Given the description of an element on the screen output the (x, y) to click on. 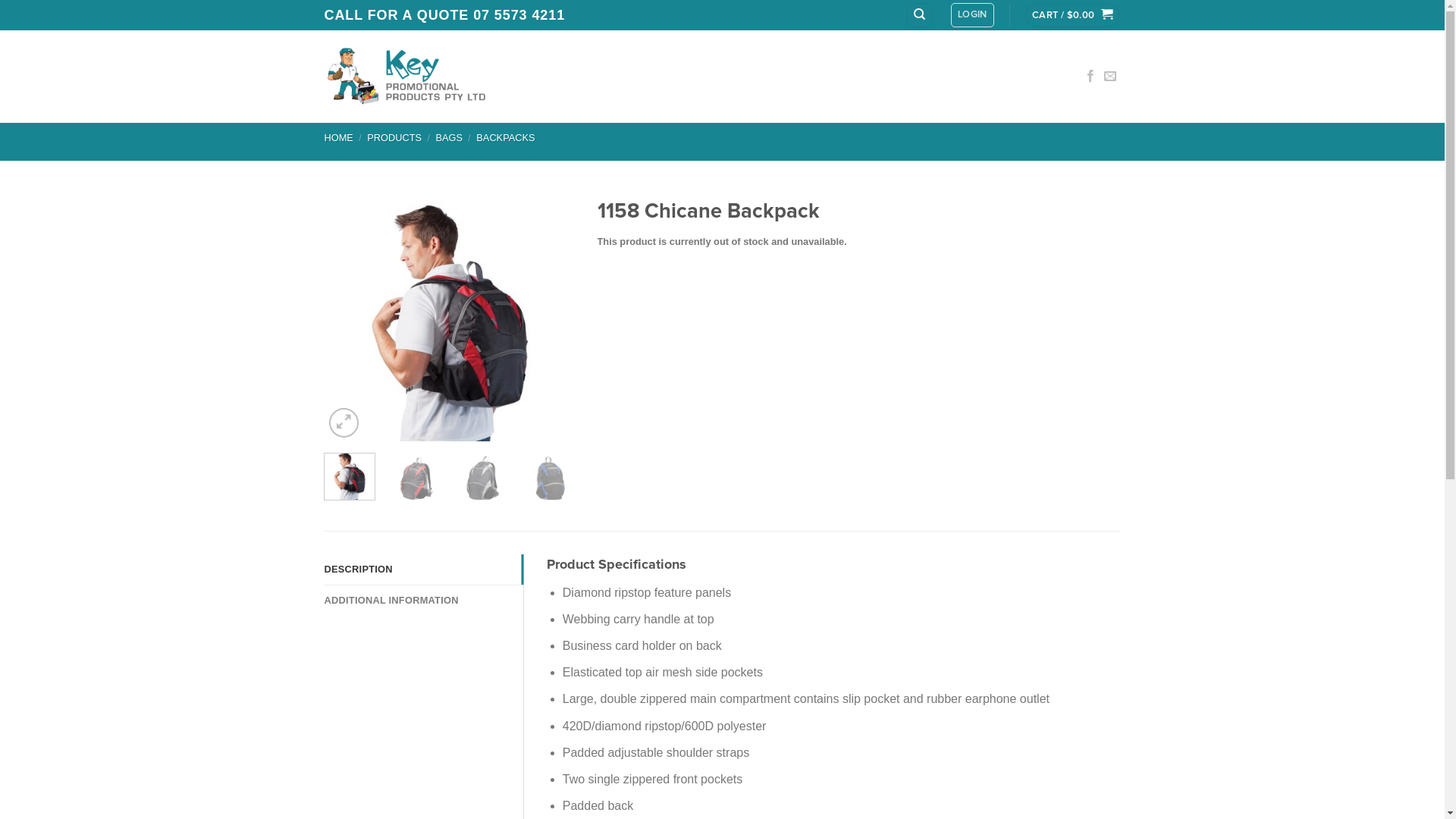
HOME Element type: text (338, 137)
ABOUT US Element type: text (980, 76)
Follow on Facebook Element type: hover (1090, 76)
LOGIN Element type: text (971, 15)
PRODUCTS Element type: text (394, 137)
DESCRIPTION Element type: text (424, 569)
Send us an email Element type: hover (1110, 76)
BACKPACKS Element type: text (505, 137)
Zoom Element type: hover (343, 422)
CART / $0.00 Element type: text (1072, 15)
PRODUCTS Element type: text (905, 76)
HOME Element type: text (839, 76)
07 5573 4211 Element type: text (518, 14)
ADDITIONAL INFORMATION Element type: text (424, 600)
CONTACT Element type: text (1048, 76)
BAGS Element type: text (448, 137)
